Given the description of an element on the screen output the (x, y) to click on. 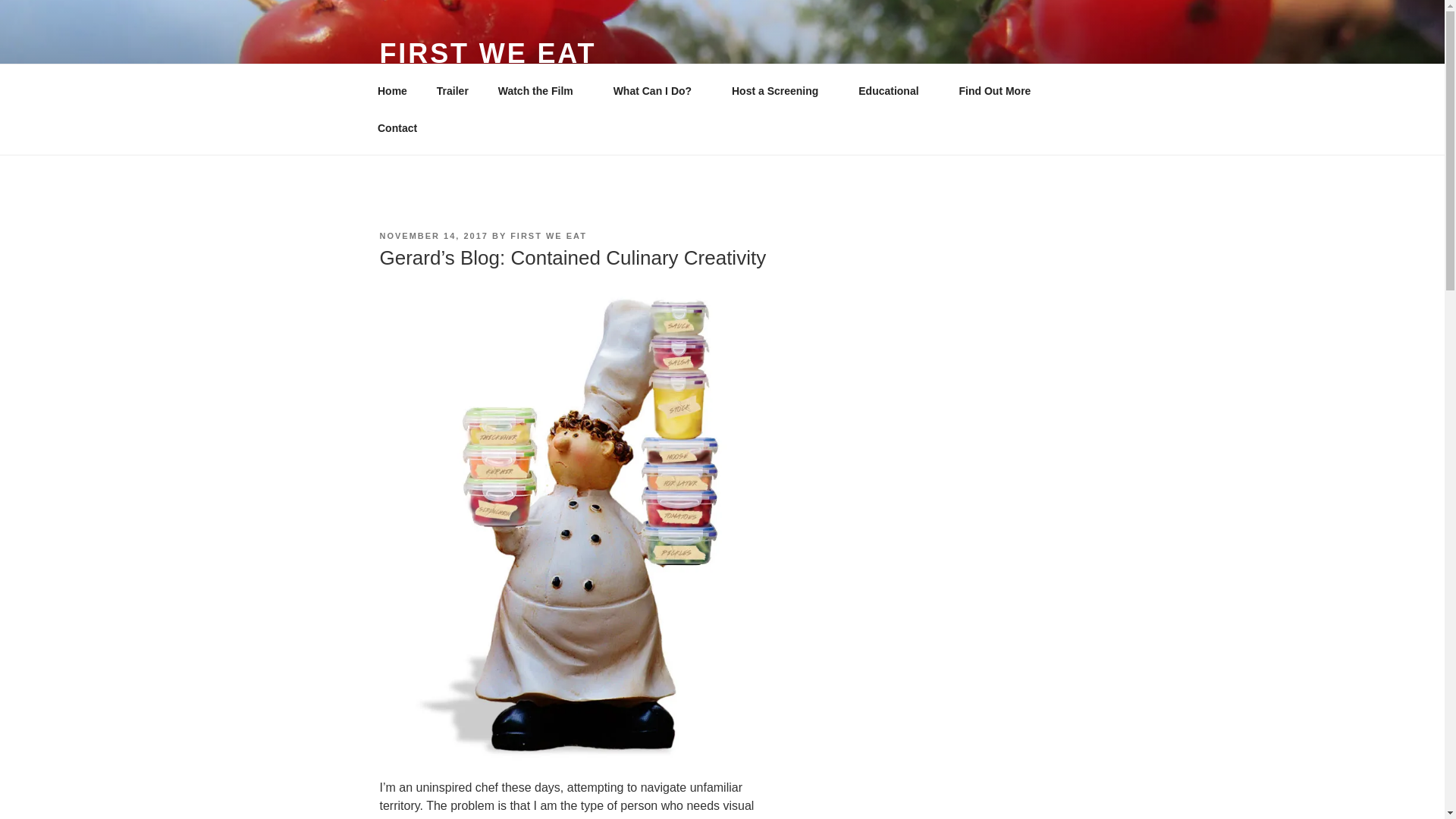
FIRST WE EAT (486, 52)
Find Out More (999, 90)
Host a Screening (779, 90)
Trailer (452, 90)
Home (392, 90)
Educational (893, 90)
Watch the Film (540, 90)
What Can I Do? (656, 90)
